Given the description of an element on the screen output the (x, y) to click on. 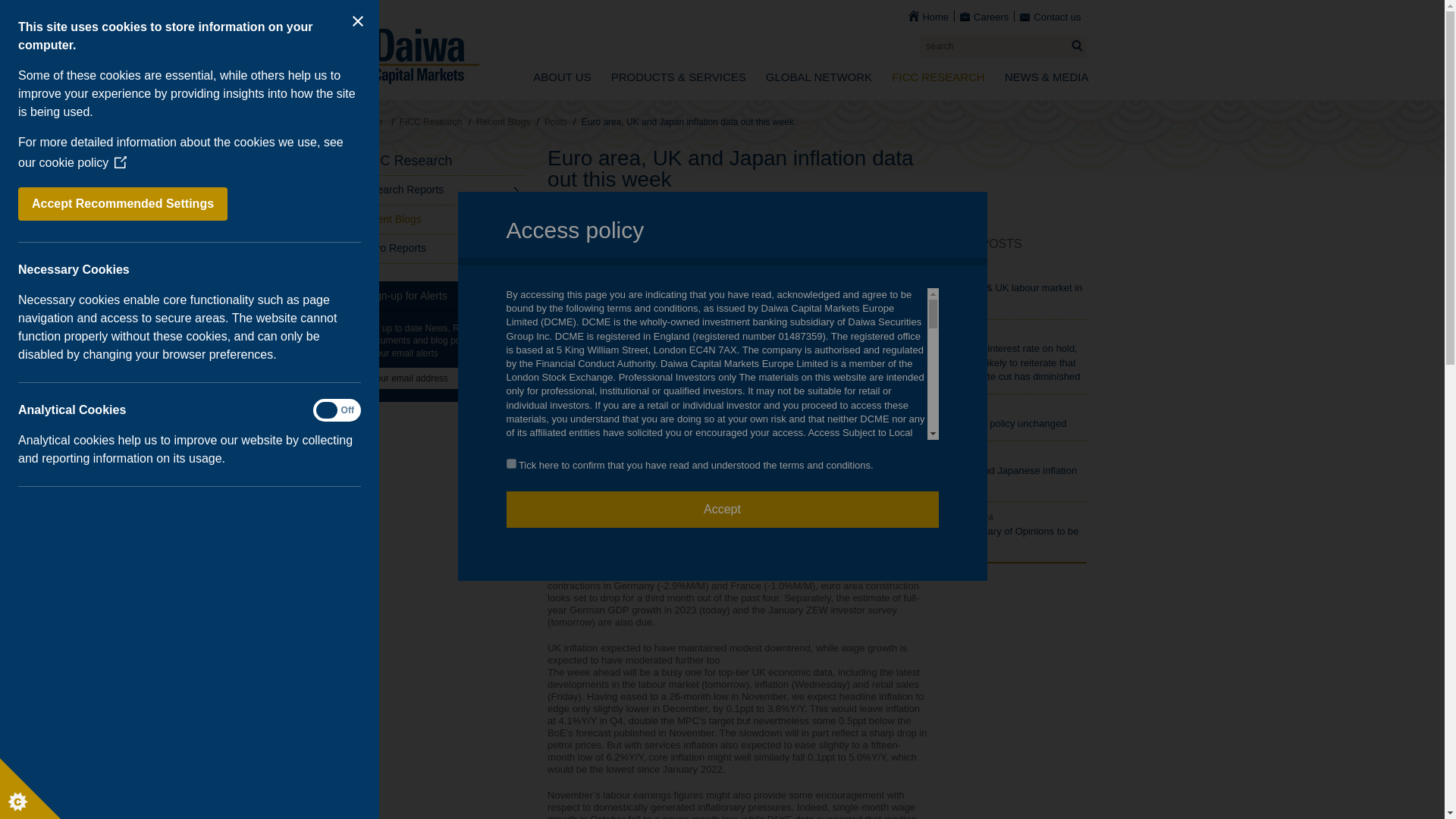
Contact us (1050, 16)
Cookie Control Icon (30, 788)
Home (927, 16)
Euro area, UK and Japan inflation data out this week (737, 173)
search (1002, 46)
Your email address (429, 378)
Careers (984, 16)
FICC RESEARCH (938, 78)
GLOBAL NETWORK (818, 78)
on (511, 463)
